Given the description of an element on the screen output the (x, y) to click on. 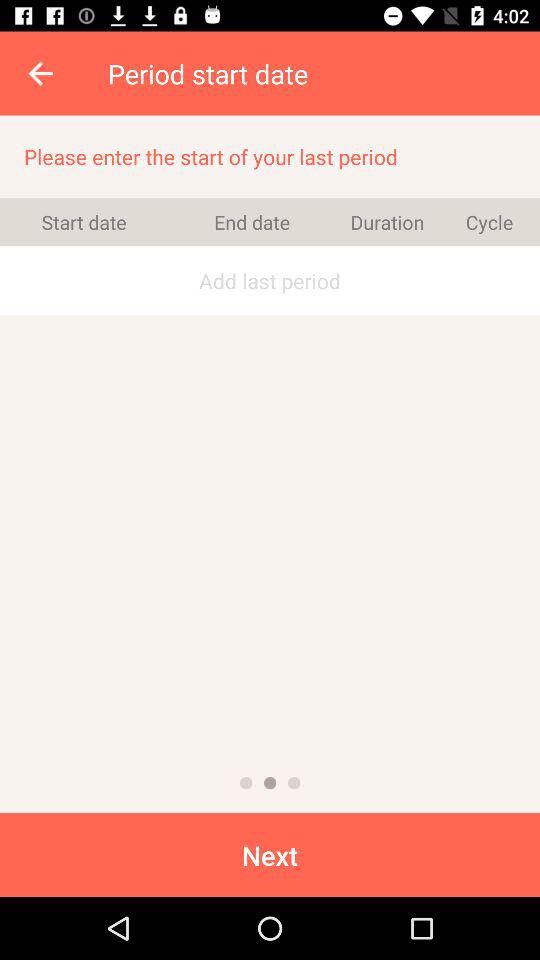
go back (42, 73)
